Given the description of an element on the screen output the (x, y) to click on. 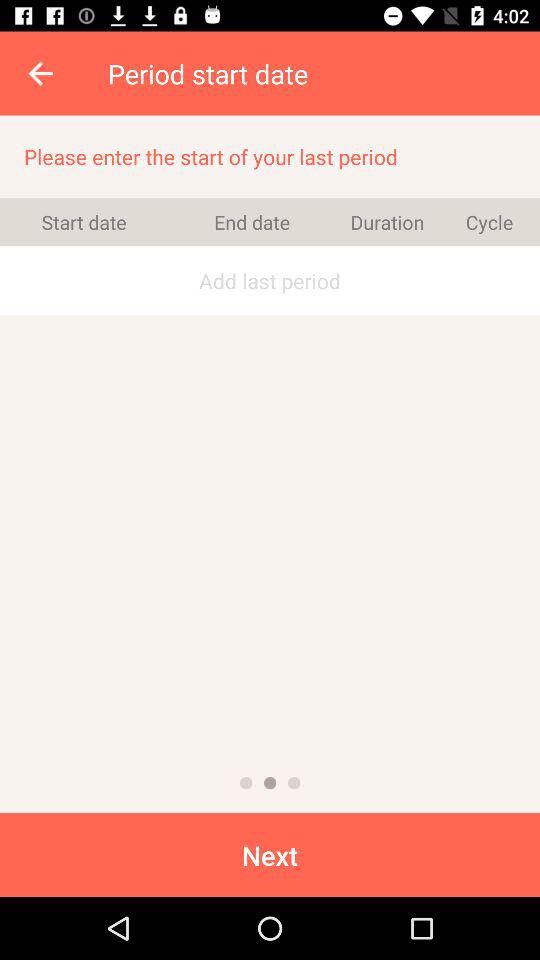
go back (42, 73)
